Given the description of an element on the screen output the (x, y) to click on. 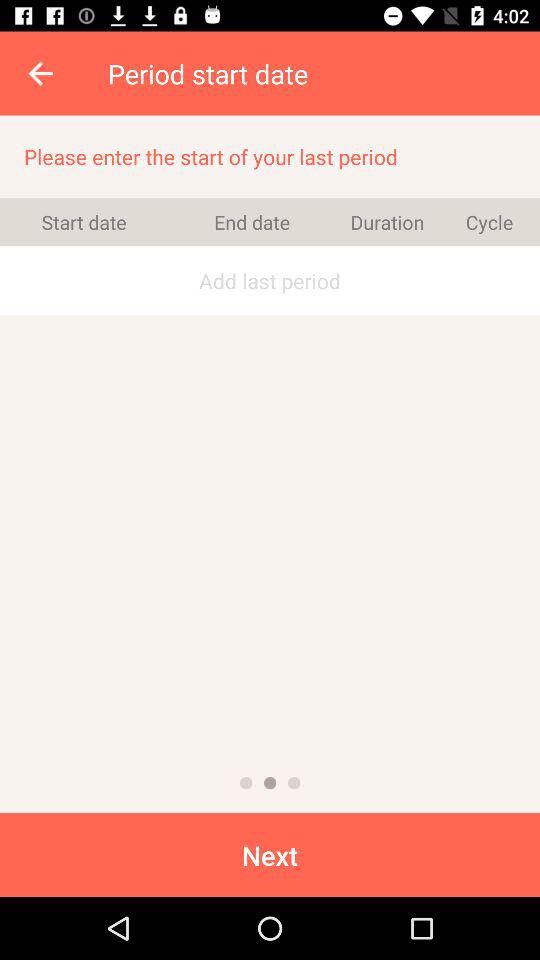
go back (42, 73)
